Given the description of an element on the screen output the (x, y) to click on. 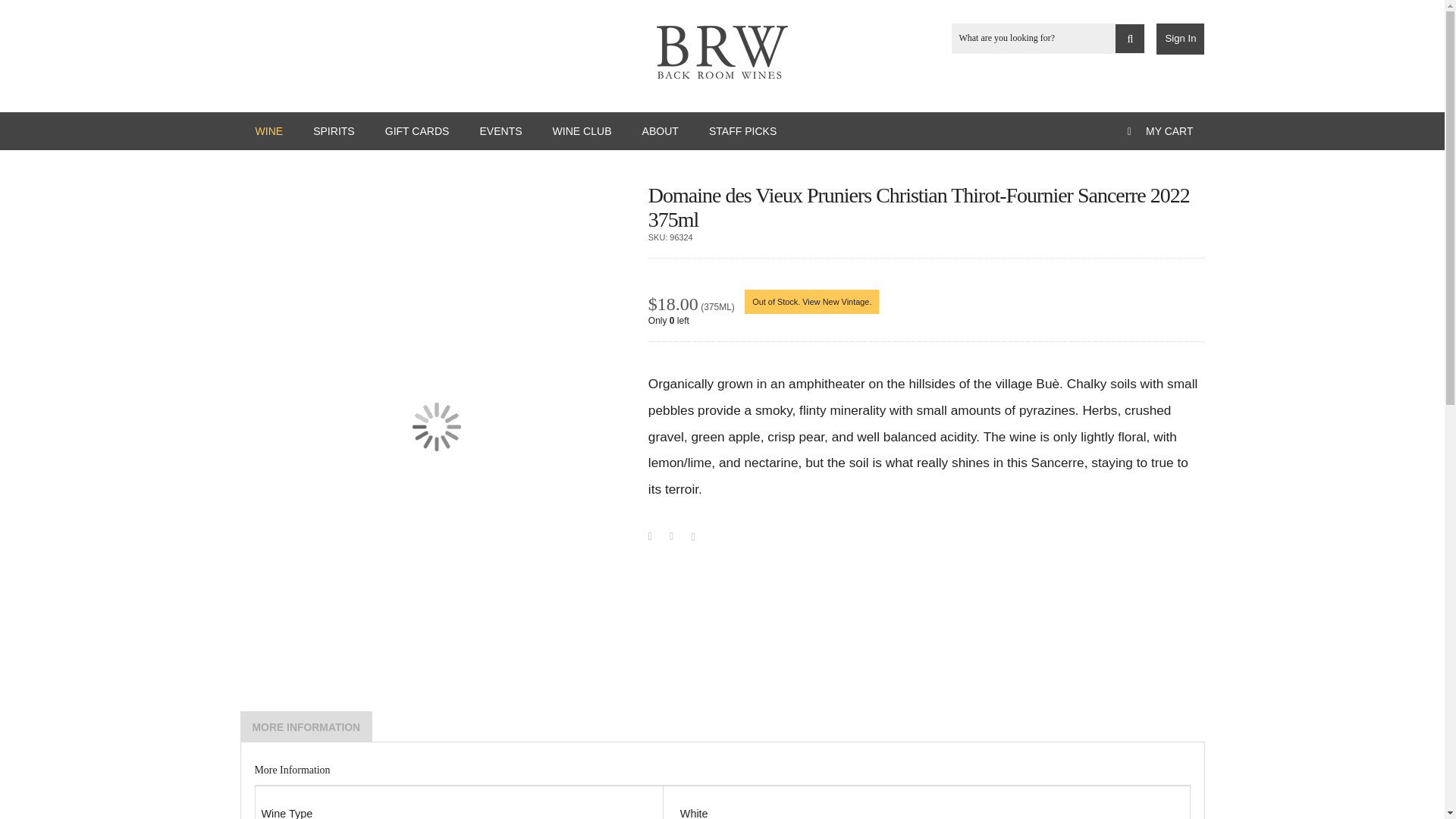
Search (1129, 38)
Back Room Wines (721, 49)
WINE (269, 130)
Sign In (1180, 38)
Only 0 left (926, 320)
Back Room Wines (721, 51)
